Given the description of an element on the screen output the (x, y) to click on. 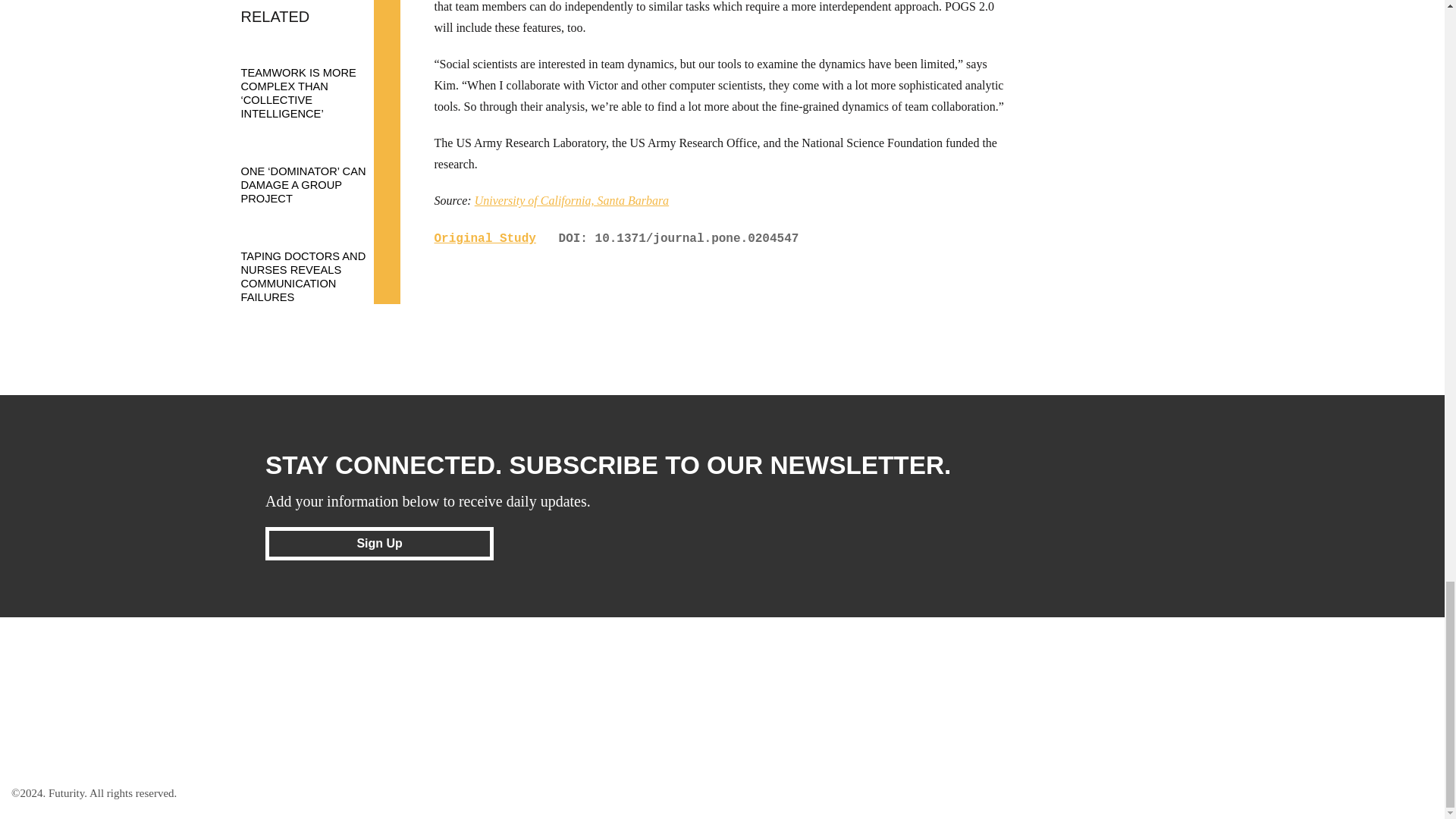
University of California, Santa Barbara (571, 200)
Taping doctors and nurses reveals communication failures (313, 261)
